Given the description of an element on the screen output the (x, y) to click on. 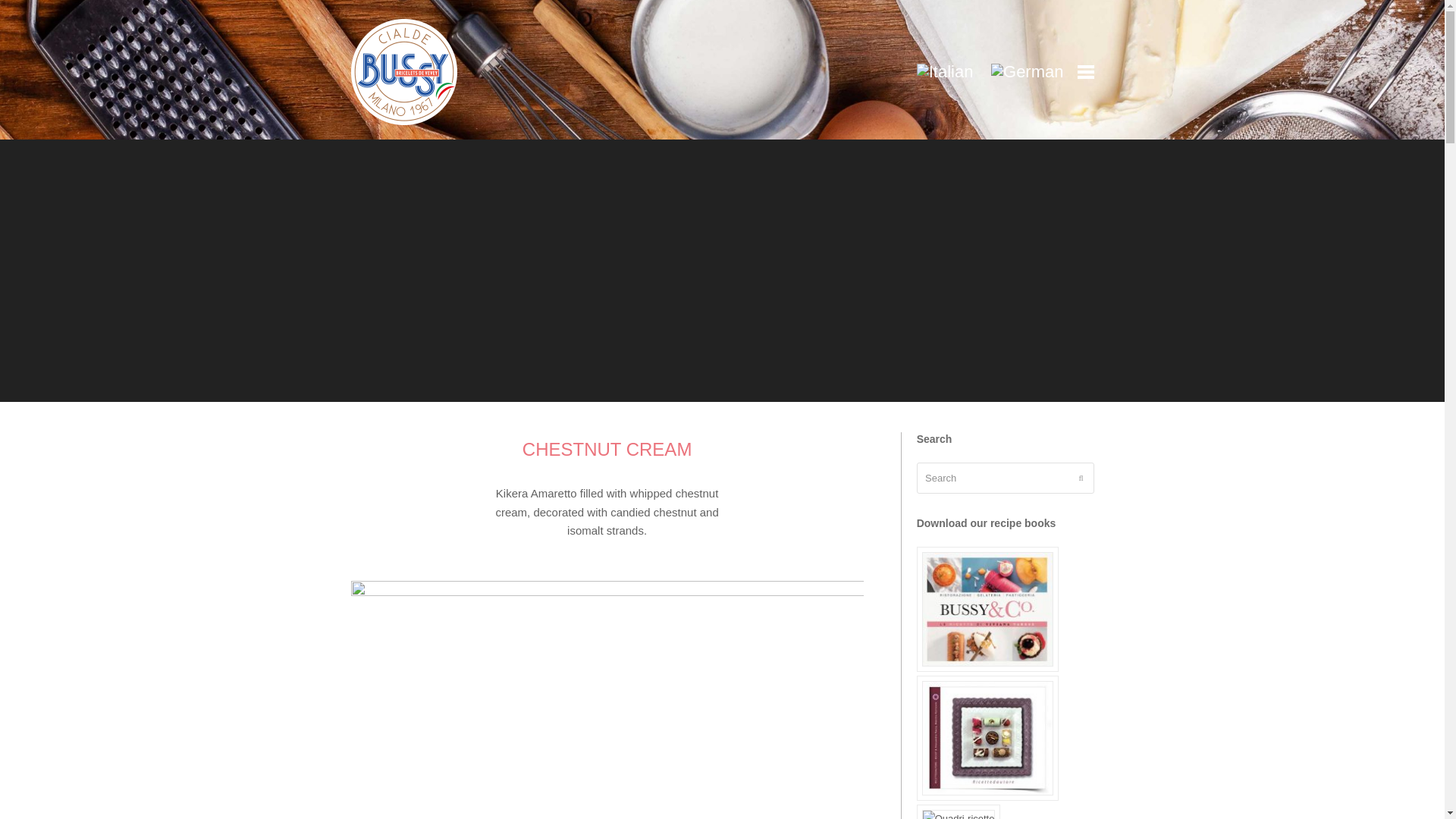
catalogo-quadri (958, 814)
catalogo-ricette (986, 737)
ricettario vv (986, 609)
